Given the description of an element on the screen output the (x, y) to click on. 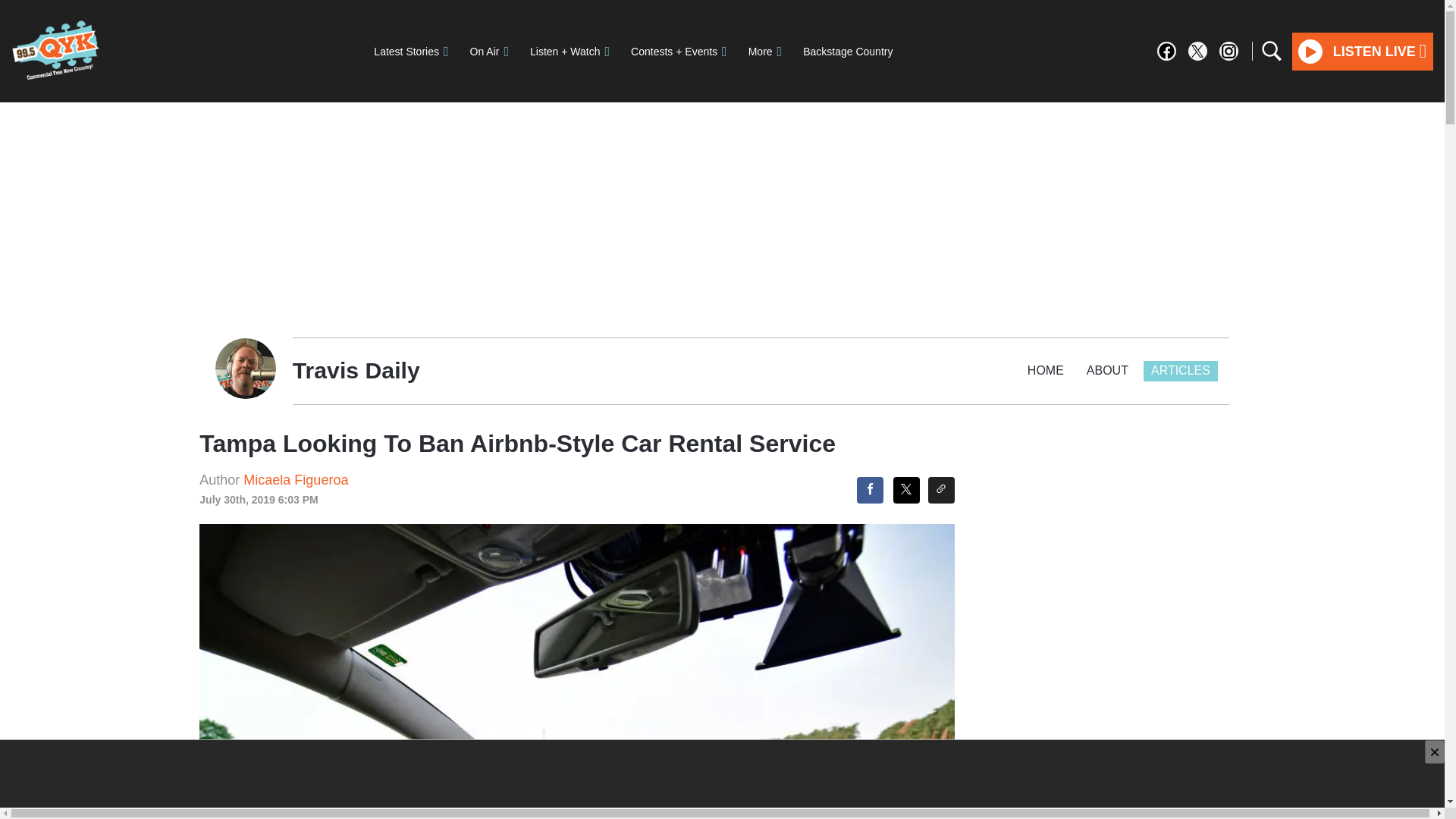
On Air (489, 51)
Close AdCheckmark indicating ad close (1434, 751)
Micaela Figueroa (295, 479)
Latest Stories (410, 51)
More (765, 51)
